Given the description of an element on the screen output the (x, y) to click on. 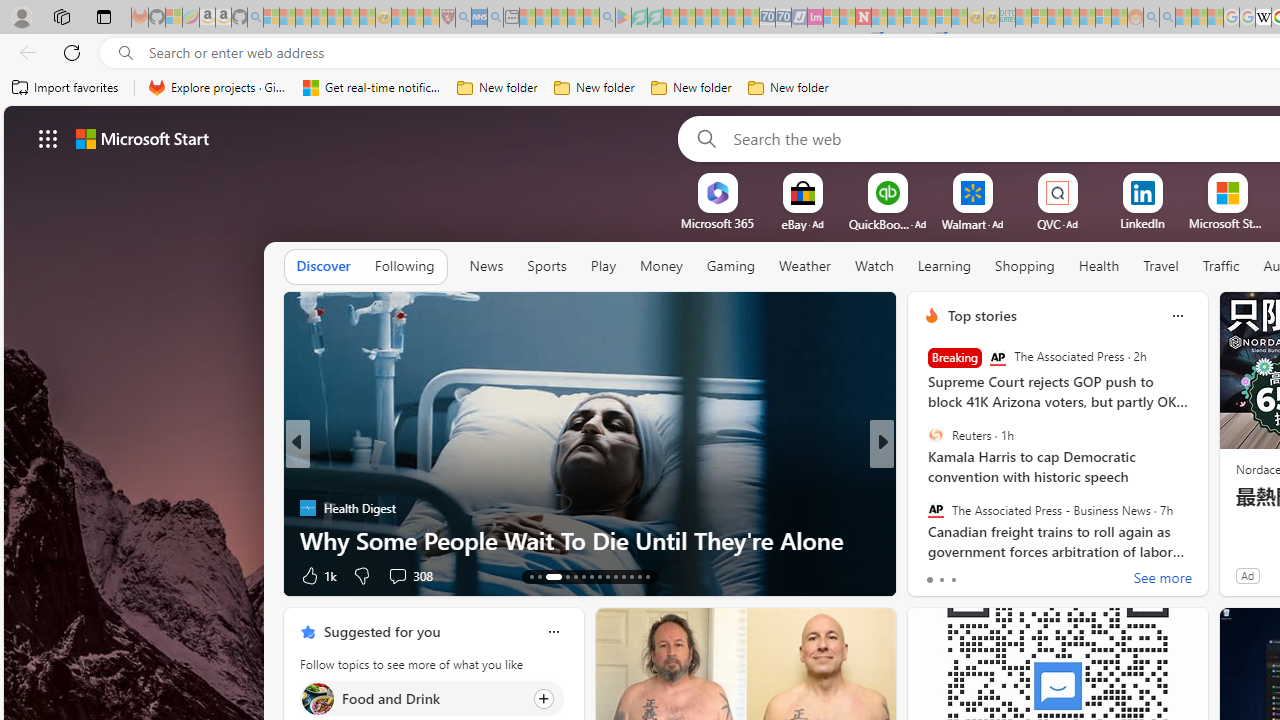
View comments 308 Comment (397, 575)
AutomationID: tab-16 (567, 576)
AutomationID: tab-21 (606, 576)
Bluey: Let's Play! - Apps on Google Play - Sleeping (623, 17)
364 Like (936, 574)
ZDNet (923, 475)
View comments 67 Comment (1021, 574)
